Given the description of an element on the screen output the (x, y) to click on. 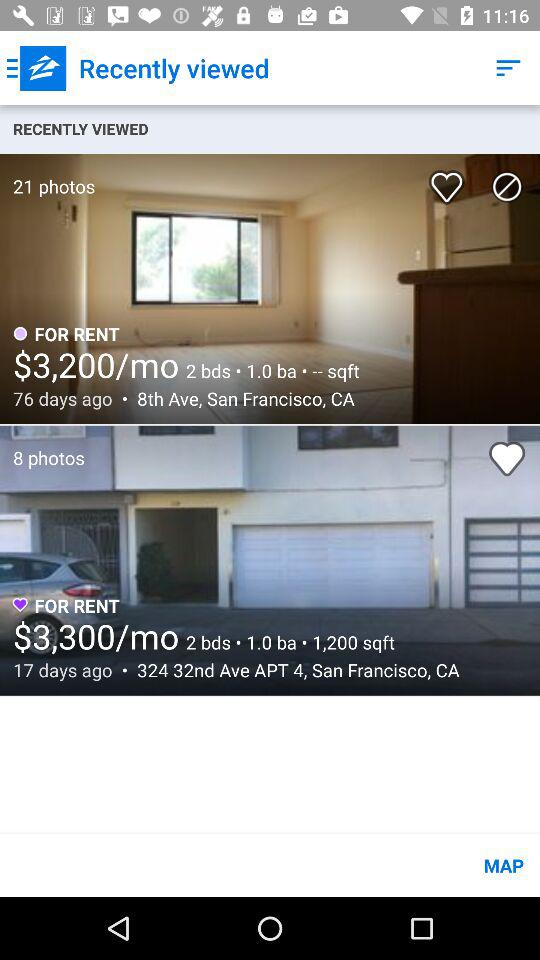
open item next to 17 days ago item (292, 669)
